Given the description of an element on the screen output the (x, y) to click on. 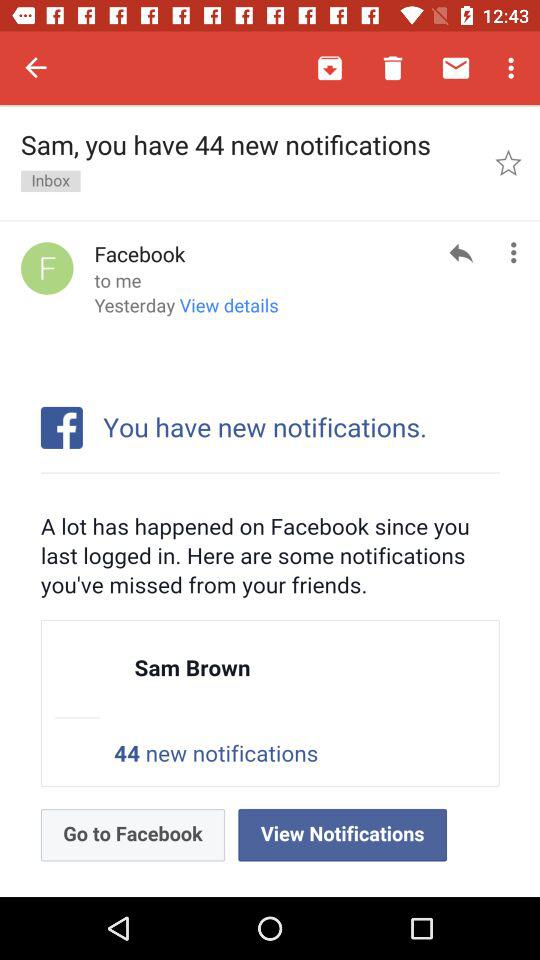
click icon next to the sam you have item (508, 162)
